Given the description of an element on the screen output the (x, y) to click on. 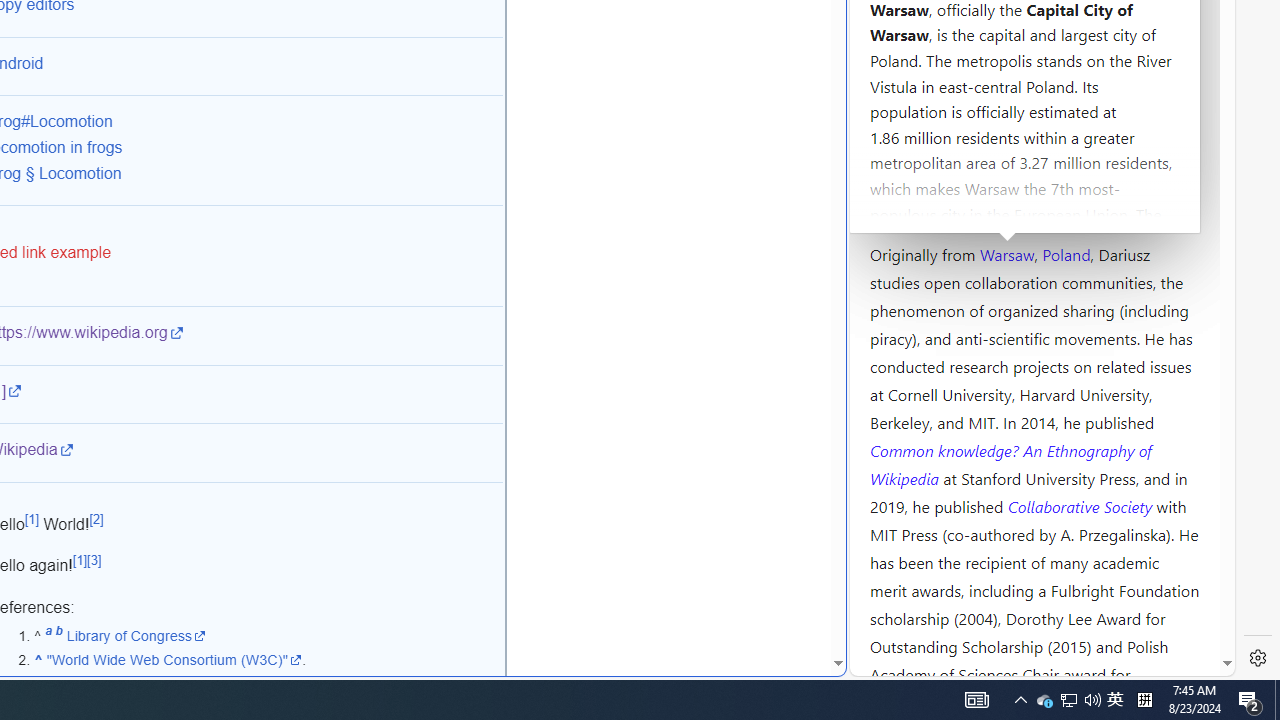
google_privacy_policy_zh-CN.pdf (687, 482)
Library of Congress (136, 635)
Common knowledge? An Ethnography of Wikipedia (1010, 463)
b (58, 635)
"World Wide Web Consortium (W3C)" (174, 660)
[2] (96, 519)
